Given the description of an element on the screen output the (x, y) to click on. 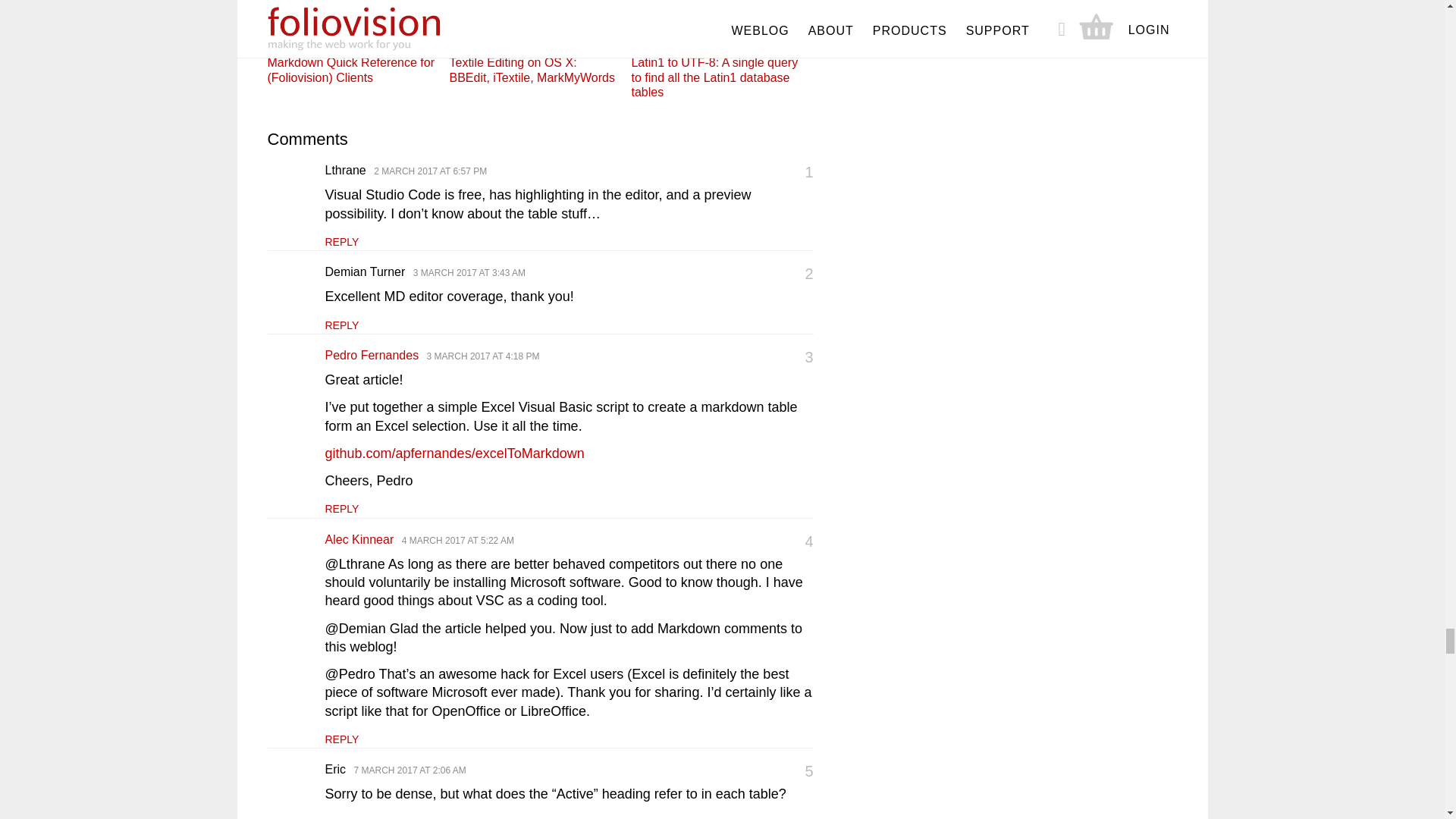
Textile Editing on OS X: BBEdit, iTextile, MarkMyWords (534, 42)
